Given the description of an element on the screen output the (x, y) to click on. 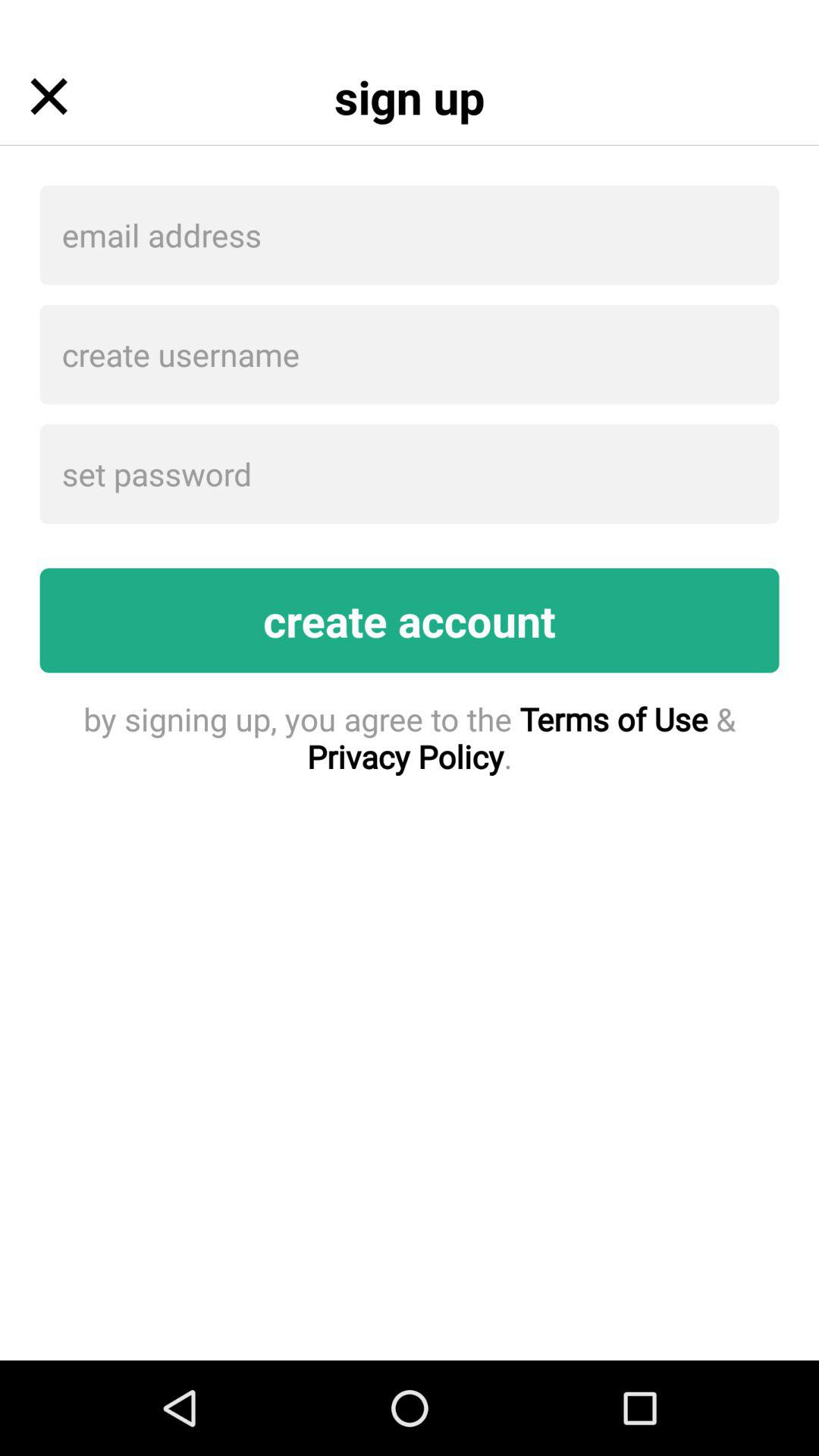
turn on icon above create account item (409, 473)
